Given the description of an element on the screen output the (x, y) to click on. 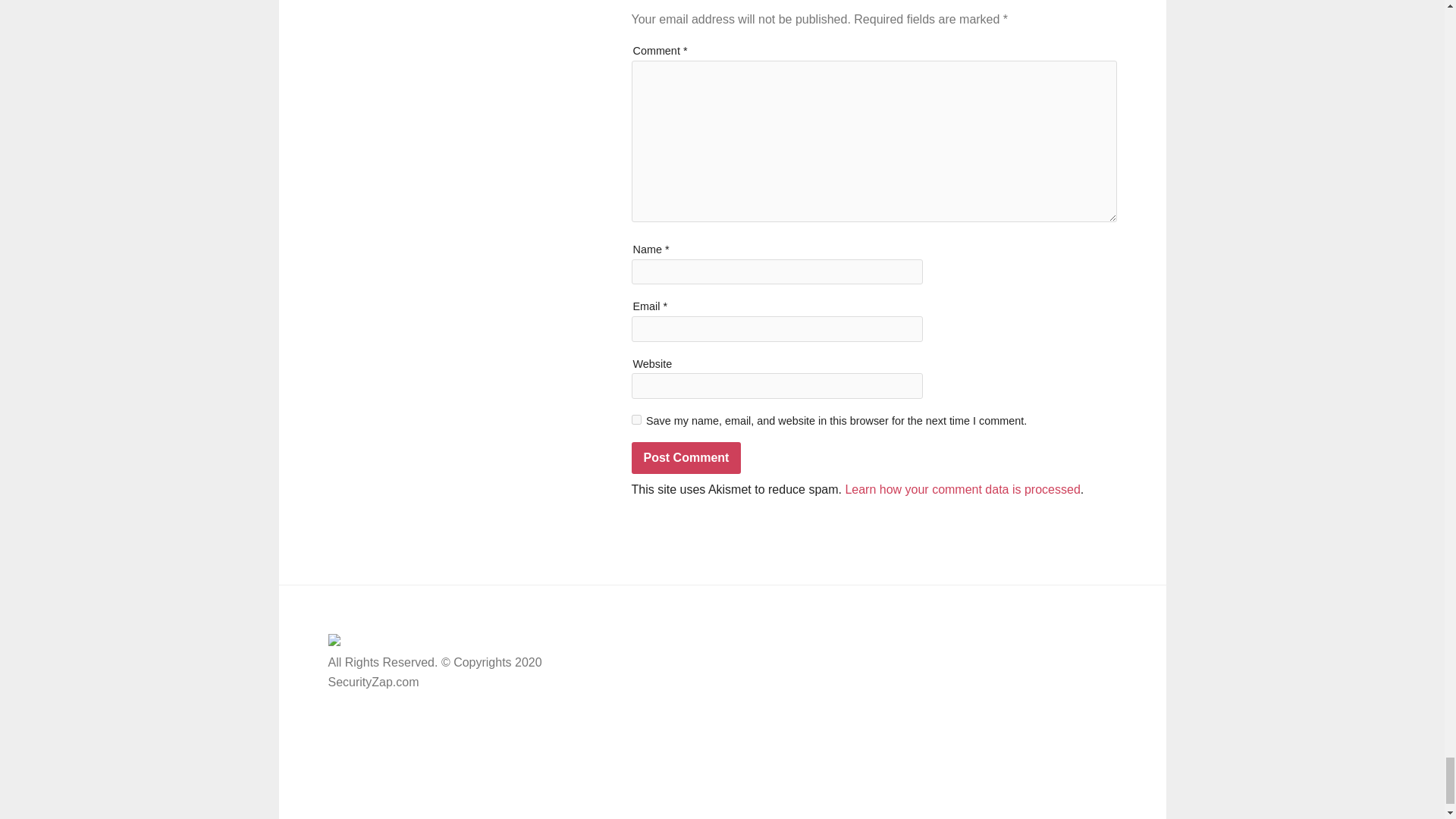
Privacy Policy and Terms of Service (965, 673)
Learn how your comment data is processed (962, 489)
About Us (622, 684)
Post Comment (685, 458)
Privacy Policy and Terms of Service (694, 711)
Sitemap (891, 646)
Post Comment (685, 458)
yes (635, 419)
Sitemap (620, 738)
About Us (893, 700)
